Given the description of an element on the screen output the (x, y) to click on. 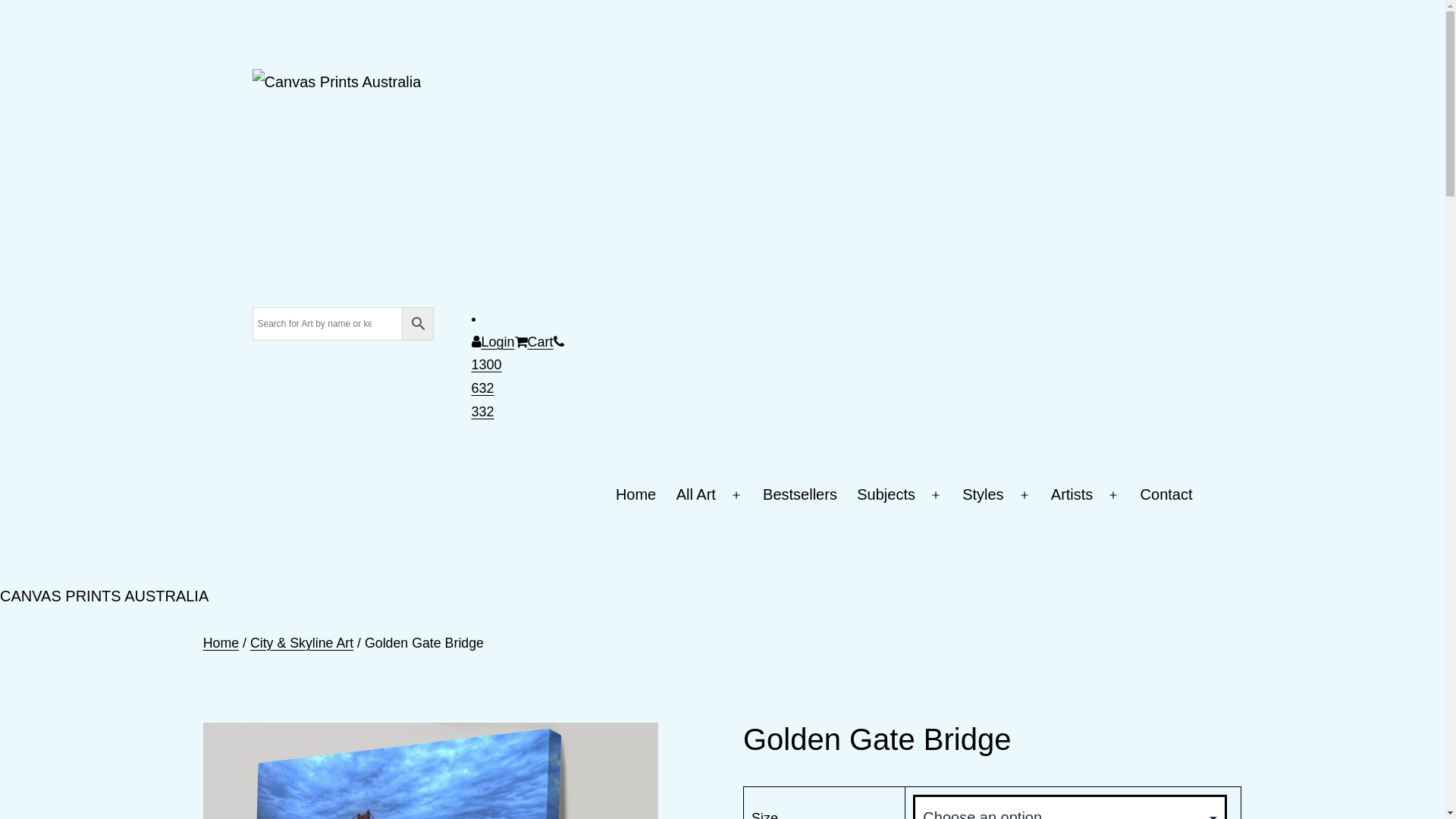
Contact Element type: text (1165, 495)
Open menu Element type: text (935, 495)
Home Element type: text (220, 642)
Bestsellers Element type: text (800, 495)
Open menu Element type: text (1112, 495)
City & Skyline Art Element type: text (301, 642)
Login Element type: text (492, 341)
Home Element type: text (635, 495)
Artists Element type: text (1072, 495)
Open menu Element type: text (1024, 495)
1300
632
332 Element type: text (561, 378)
Styles Element type: text (982, 495)
Open menu Element type: text (736, 495)
Cart Element type: text (533, 341)
Subjects Element type: text (886, 495)
All Art Element type: text (695, 495)
